Given the description of an element on the screen output the (x, y) to click on. 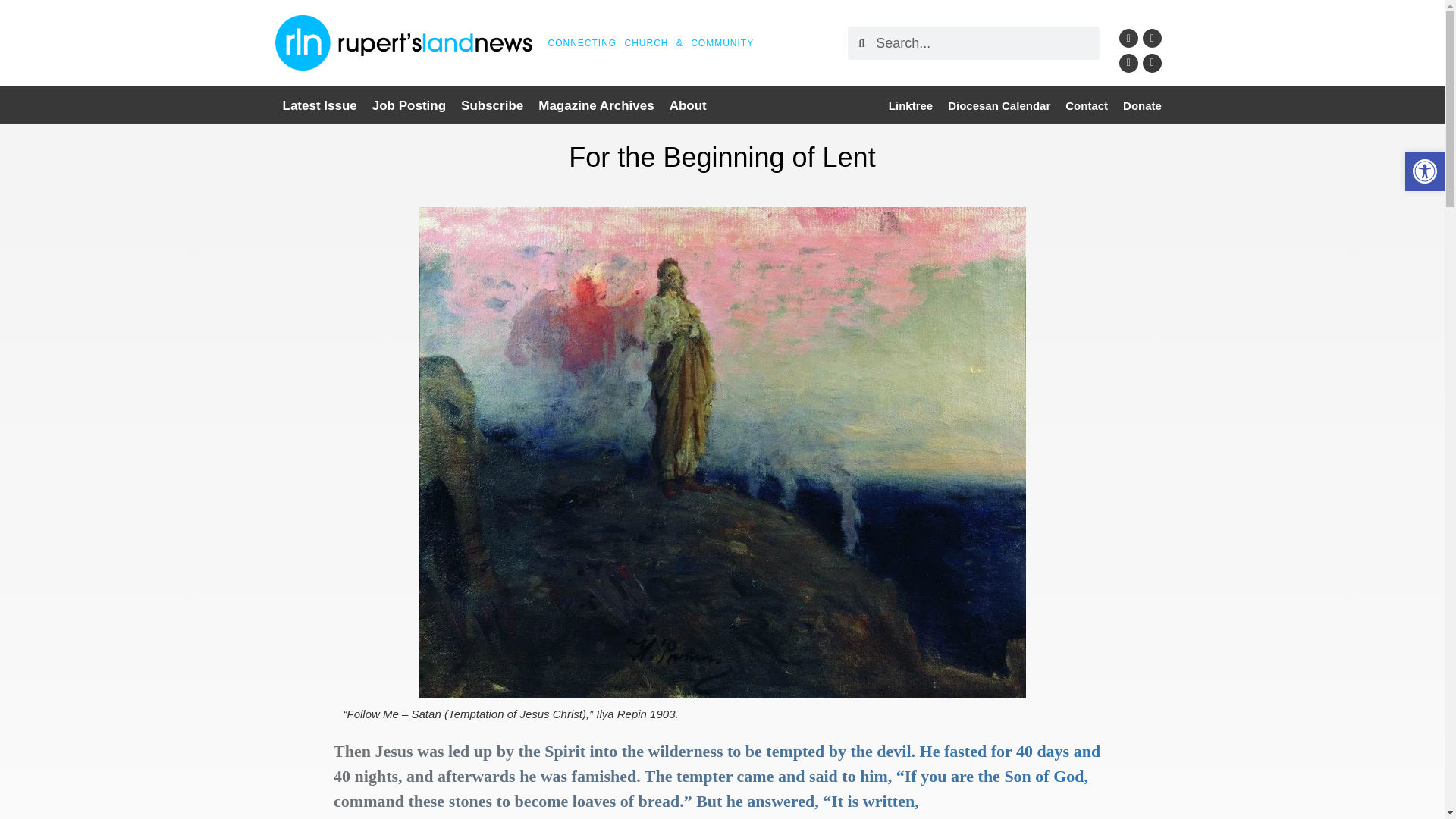
Magazine Archives (596, 105)
Subscribe (491, 105)
Latest Issue (319, 105)
Accessibility Tools (1424, 170)
About (688, 105)
Job Posting (408, 105)
